Given the description of an element on the screen output the (x, y) to click on. 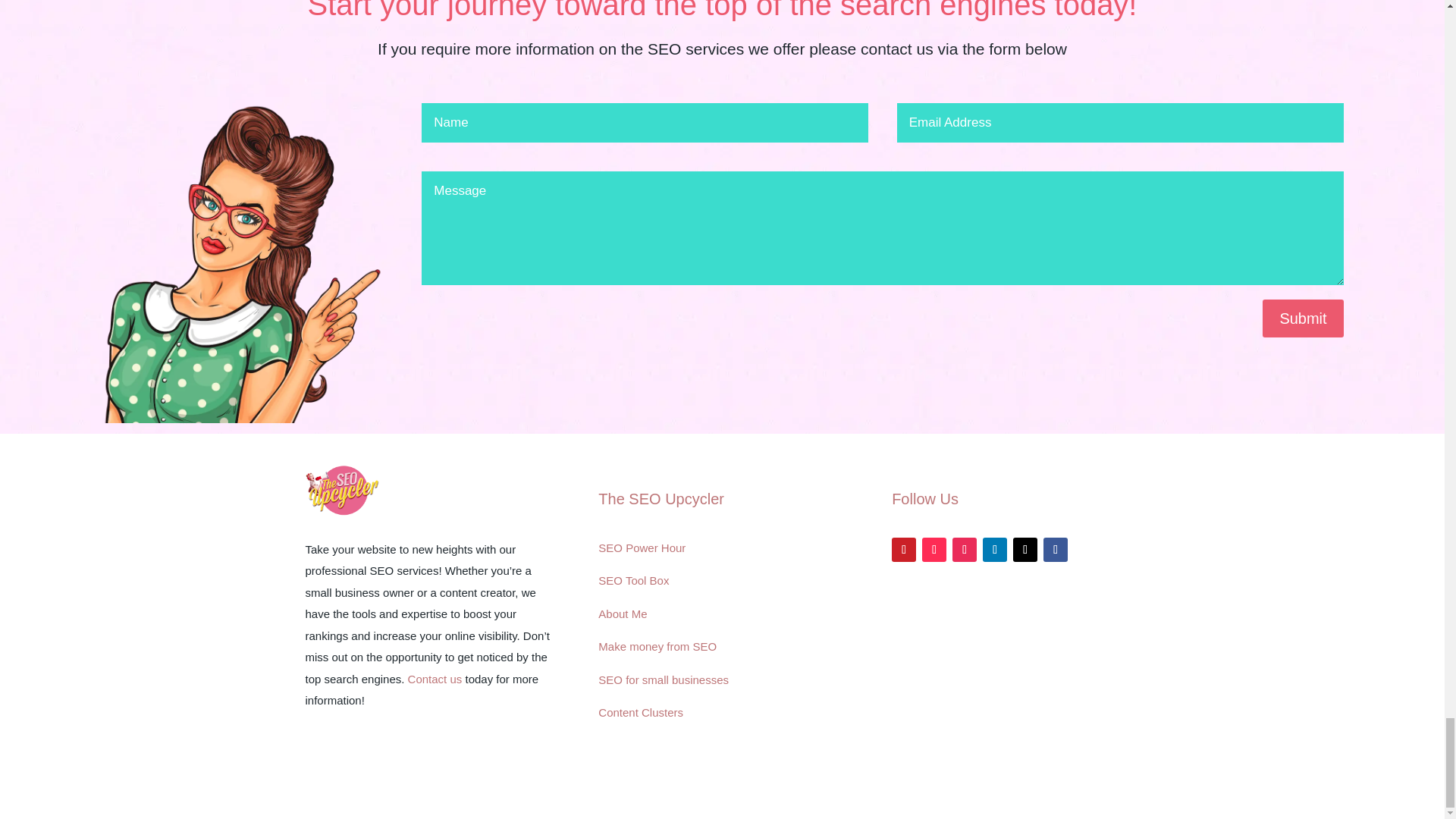
Follow on Pinterest (903, 549)
Follow on Instagram (964, 549)
Follow on TikTok (933, 549)
SEO-UPCYCLER-LOGO (341, 490)
Follow on LinkedIn (994, 549)
